Given the description of an element on the screen output the (x, y) to click on. 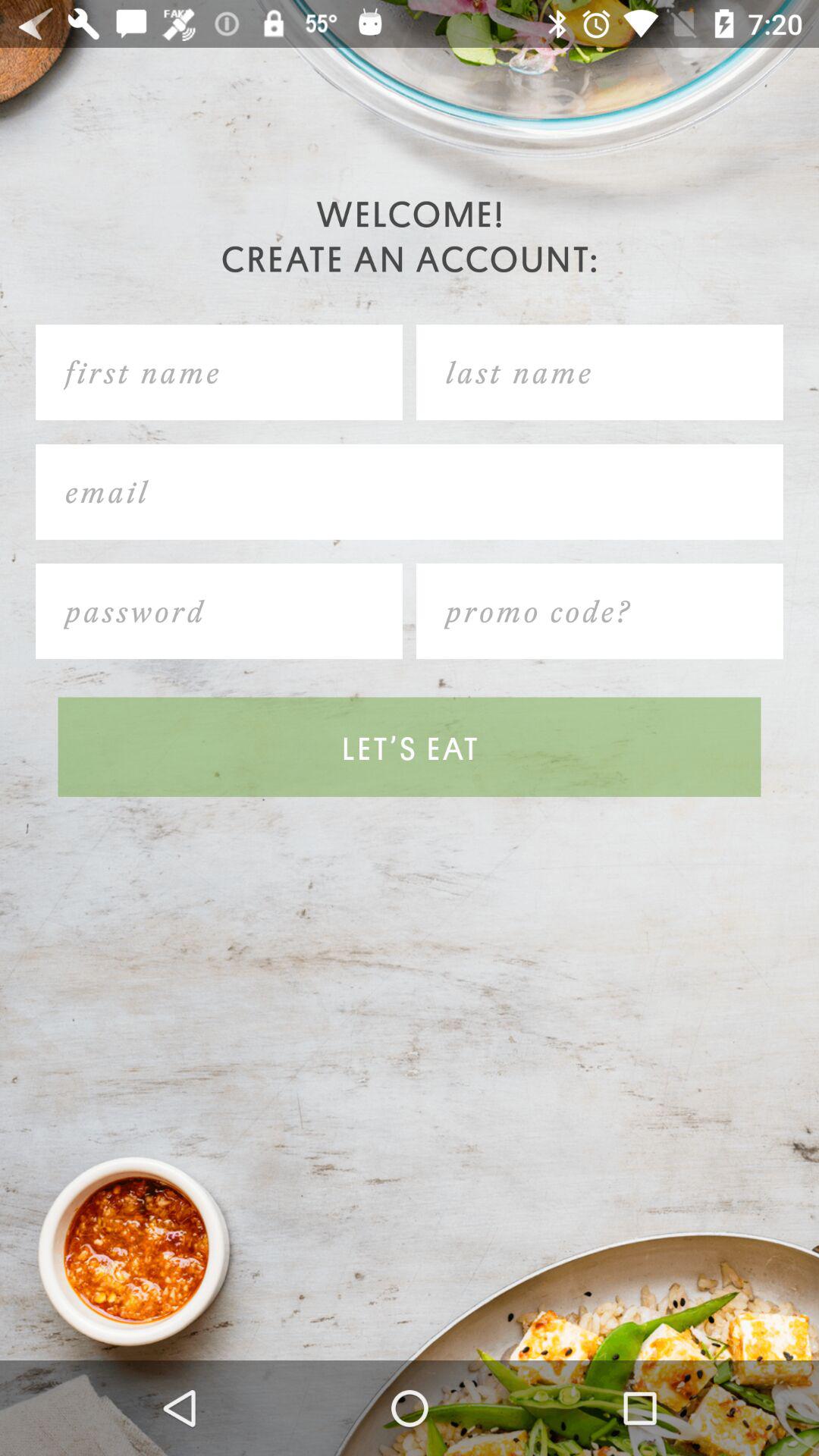
enter first name (218, 372)
